Given the description of an element on the screen output the (x, y) to click on. 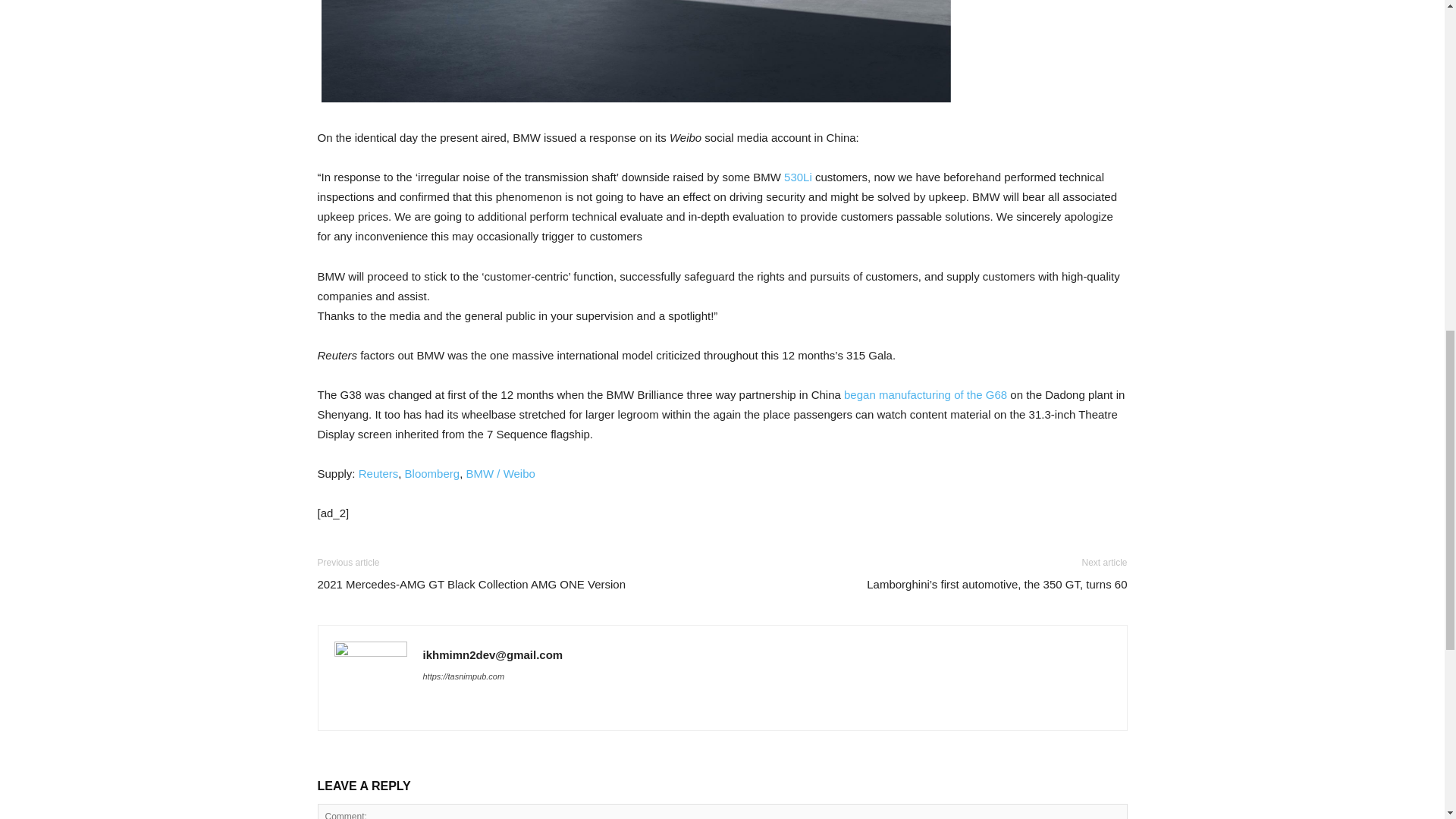
Reuters (378, 472)
530Li (798, 176)
2021 Mercedes-AMG GT Black Collection AMG ONE Version (471, 584)
Bloomberg (432, 472)
began manufacturing of the G68 (925, 394)
